Given the description of an element on the screen output the (x, y) to click on. 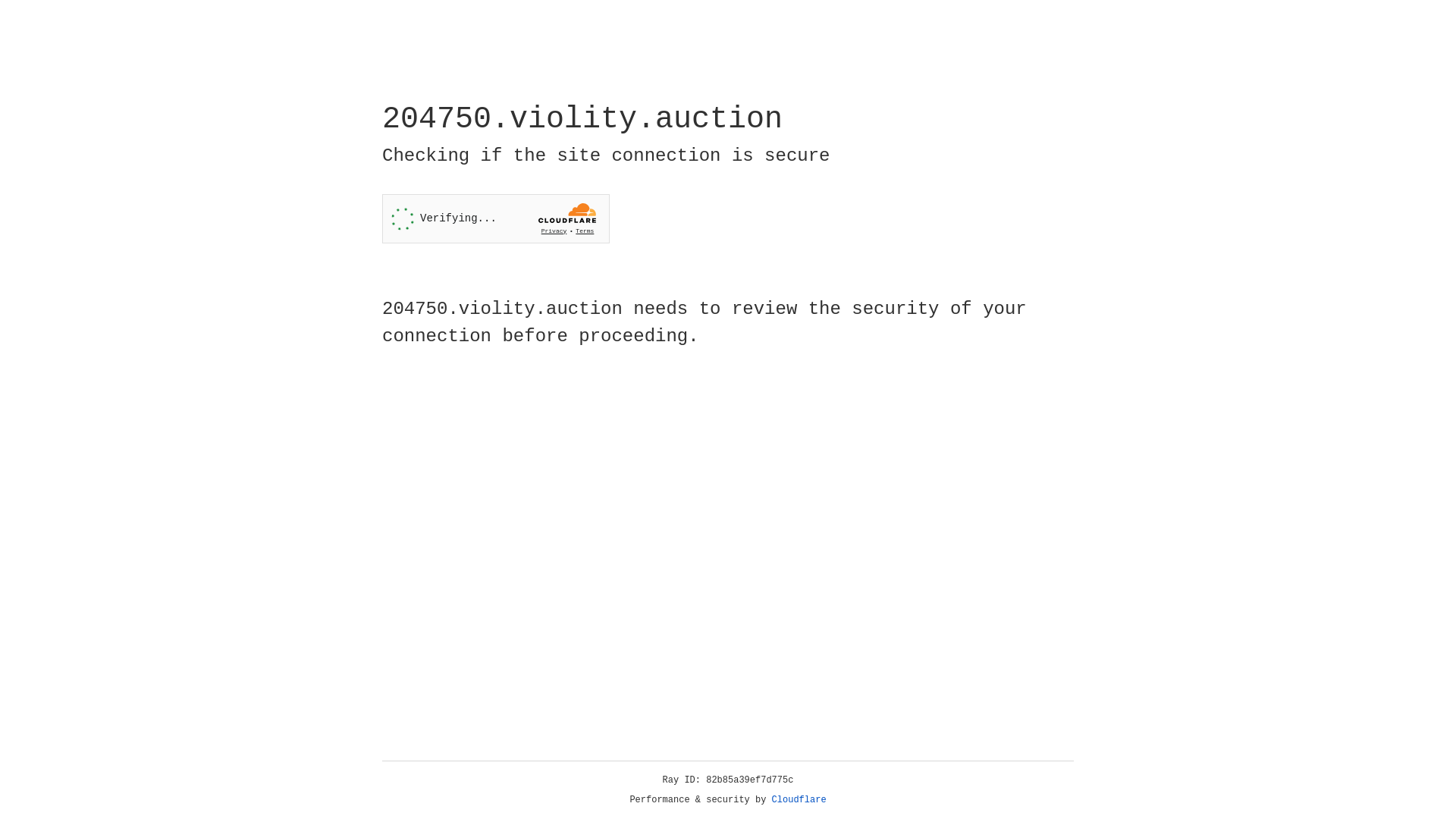
Widget containing a Cloudflare security challenge Element type: hover (495, 218)
Cloudflare Element type: text (798, 799)
